Given the description of an element on the screen output the (x, y) to click on. 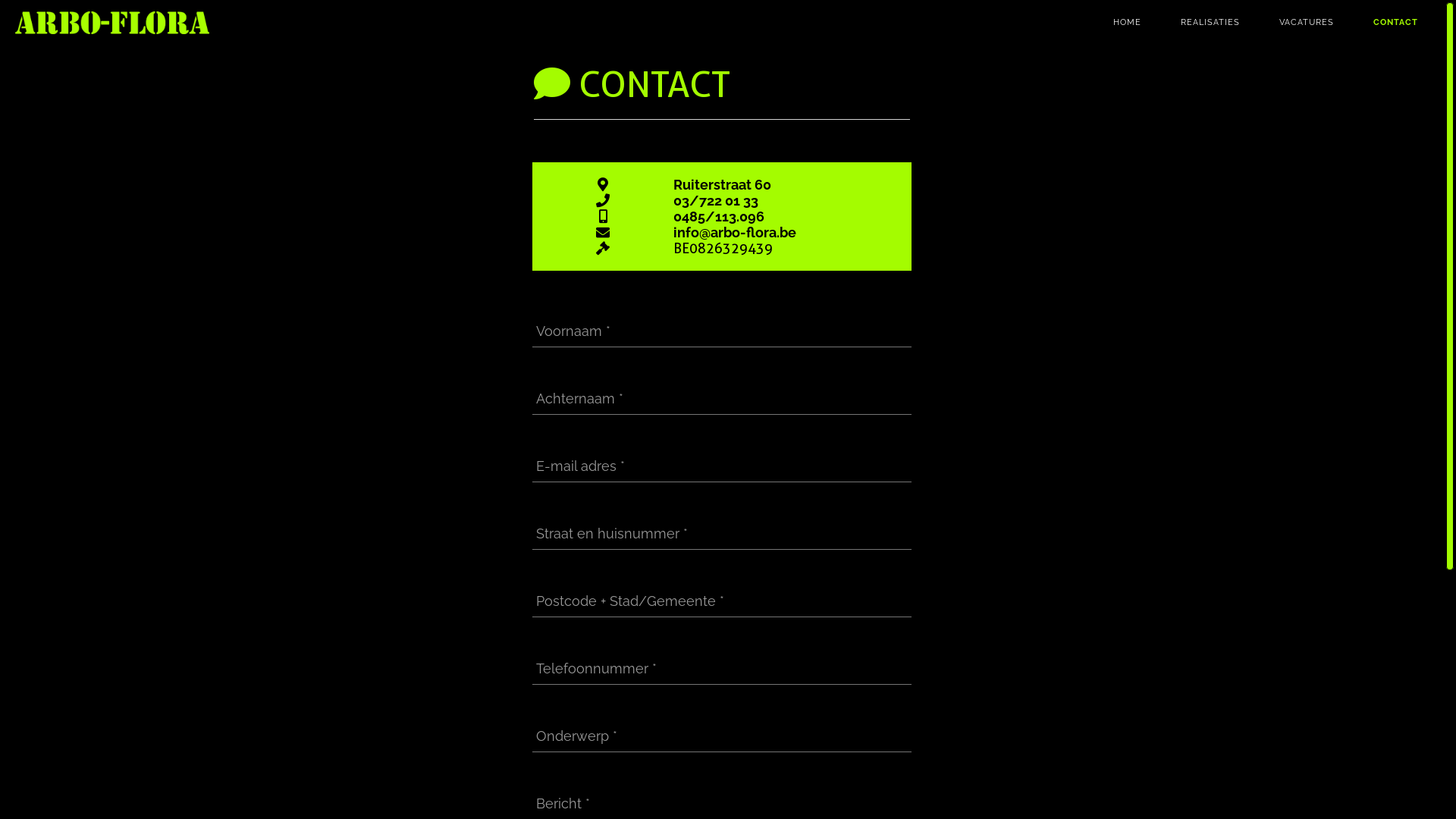
03/722 01 33 Element type: text (715, 200)
info@arbo-flora.be Element type: text (734, 232)
0485/113.096 Element type: text (718, 216)
Ruiterstraat 60 Element type: text (722, 184)
